Given the description of an element on the screen output the (x, y) to click on. 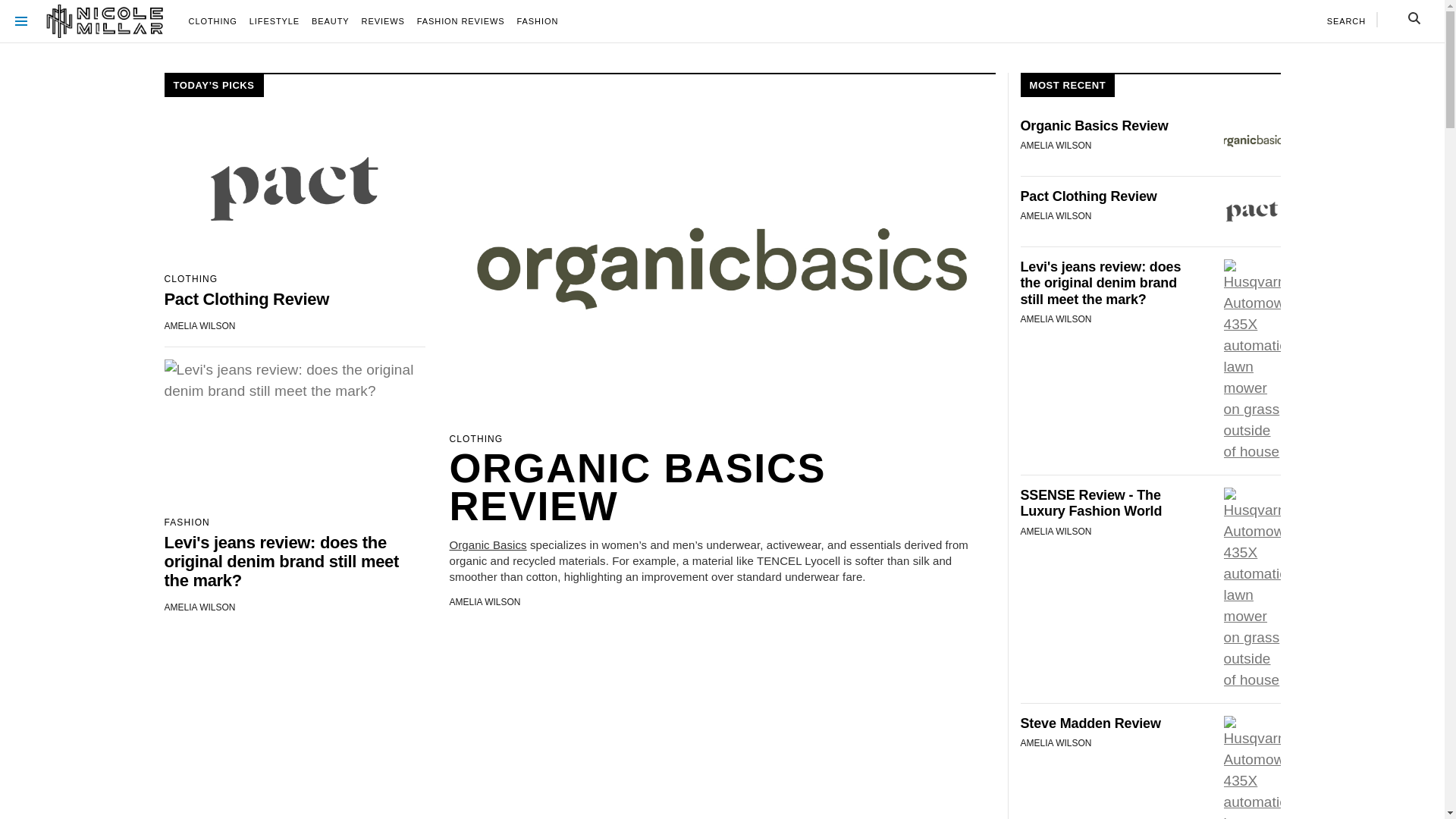
SEARCH Element type: text (1414, 18)
Skip to main content Element type: text (0, 42)
Steve Madden Review Element type: text (1109, 723)
REVIEWS Element type: text (382, 21)
SSENSE Review - The Luxury Fashion World Element type: text (1109, 503)
FASHION Element type: text (537, 21)
SEARCH Element type: text (1346, 21)
FASHION REVIEWS Element type: text (461, 21)
ORGANIC BASICS REVIEW Element type: text (721, 486)
LIFESTYLE Element type: text (274, 21)
Pact Clothing Review Element type: text (1109, 196)
CLOTHING Element type: text (212, 21)
BEAUTY Element type: text (330, 21)
Organic Basics Element type: text (487, 544)
Organic Basics Review Element type: text (1109, 126)
OPEN NAVIGATION MENU Element type: text (21, 21)
Pact Clothing Review Element type: text (293, 298)
